Given the description of an element on the screen output the (x, y) to click on. 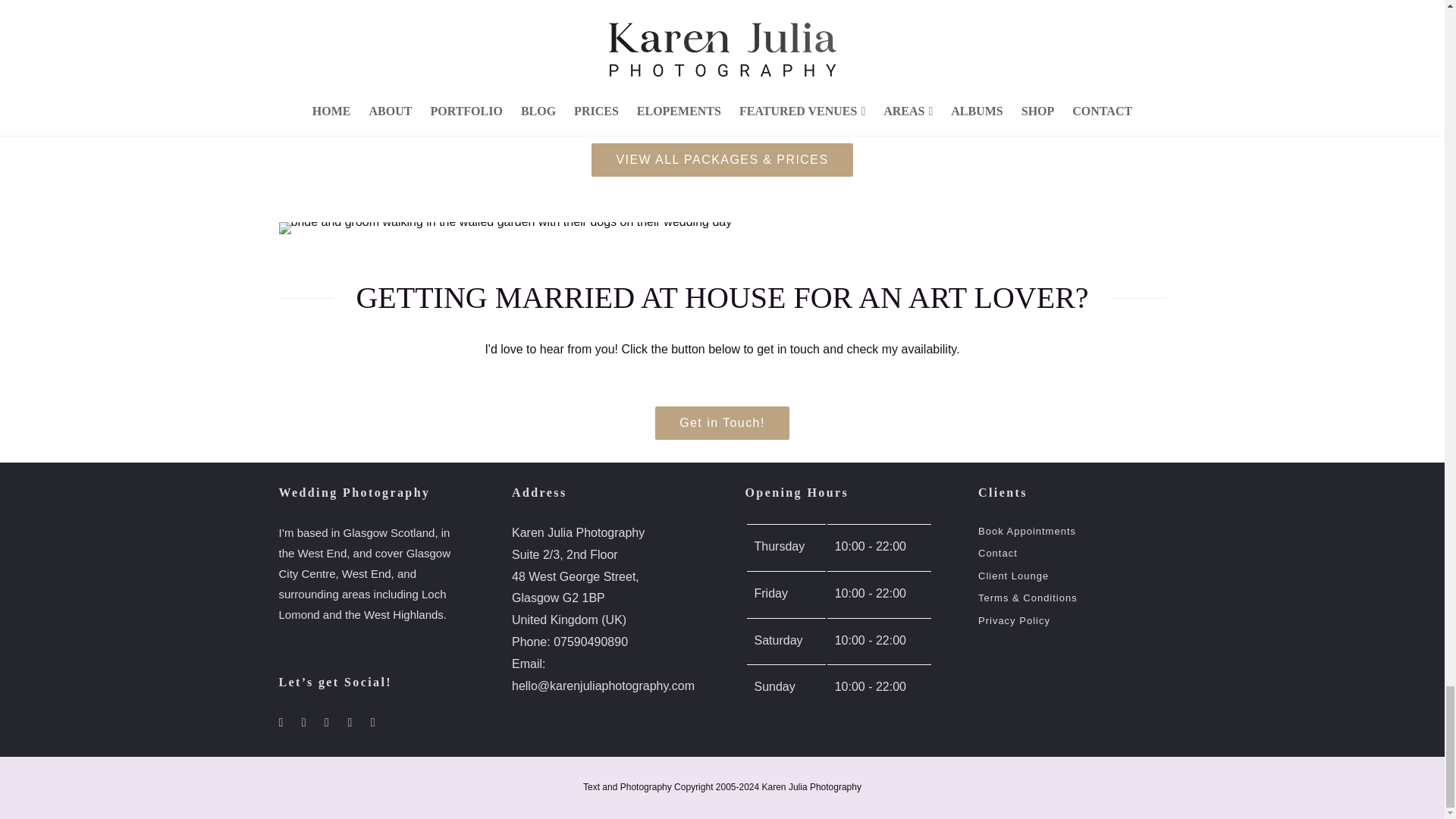
Get in Touch! (722, 422)
